Given the description of an element on the screen output the (x, y) to click on. 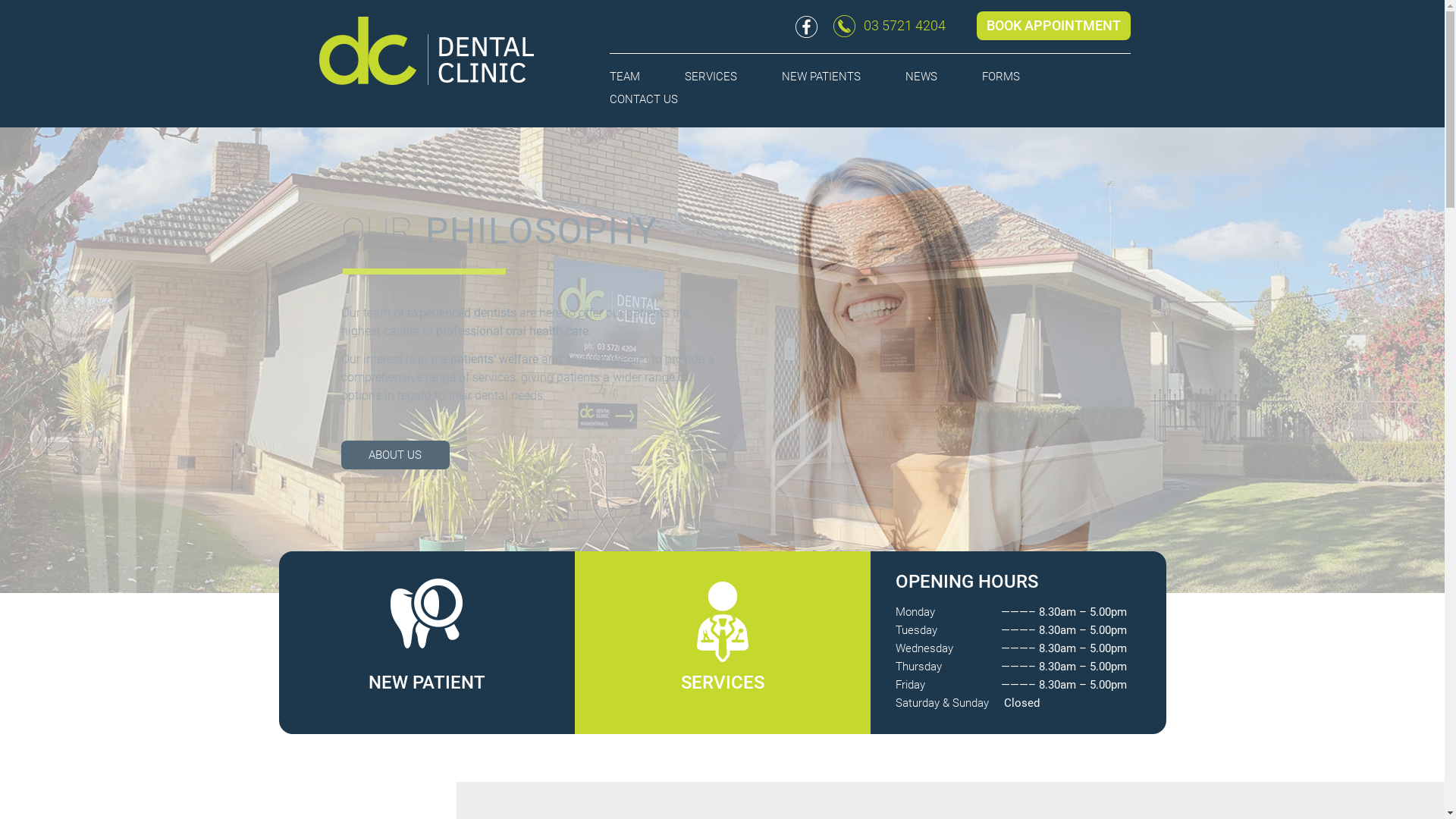
BOOK APPOINTMENT Element type: text (1053, 25)
SERVICES Element type: text (710, 76)
ABOUT US Element type: text (395, 454)
03 5721 4204 Element type: text (889, 25)
FORMS Element type: text (1000, 76)
CONTACT US Element type: text (643, 98)
TEAM Element type: text (624, 76)
NEW PATIENT Element type: text (425, 648)
NEWS Element type: text (921, 76)
SERVICES Element type: text (721, 652)
NEW PATIENTS Element type: text (820, 76)
